Given the description of an element on the screen output the (x, y) to click on. 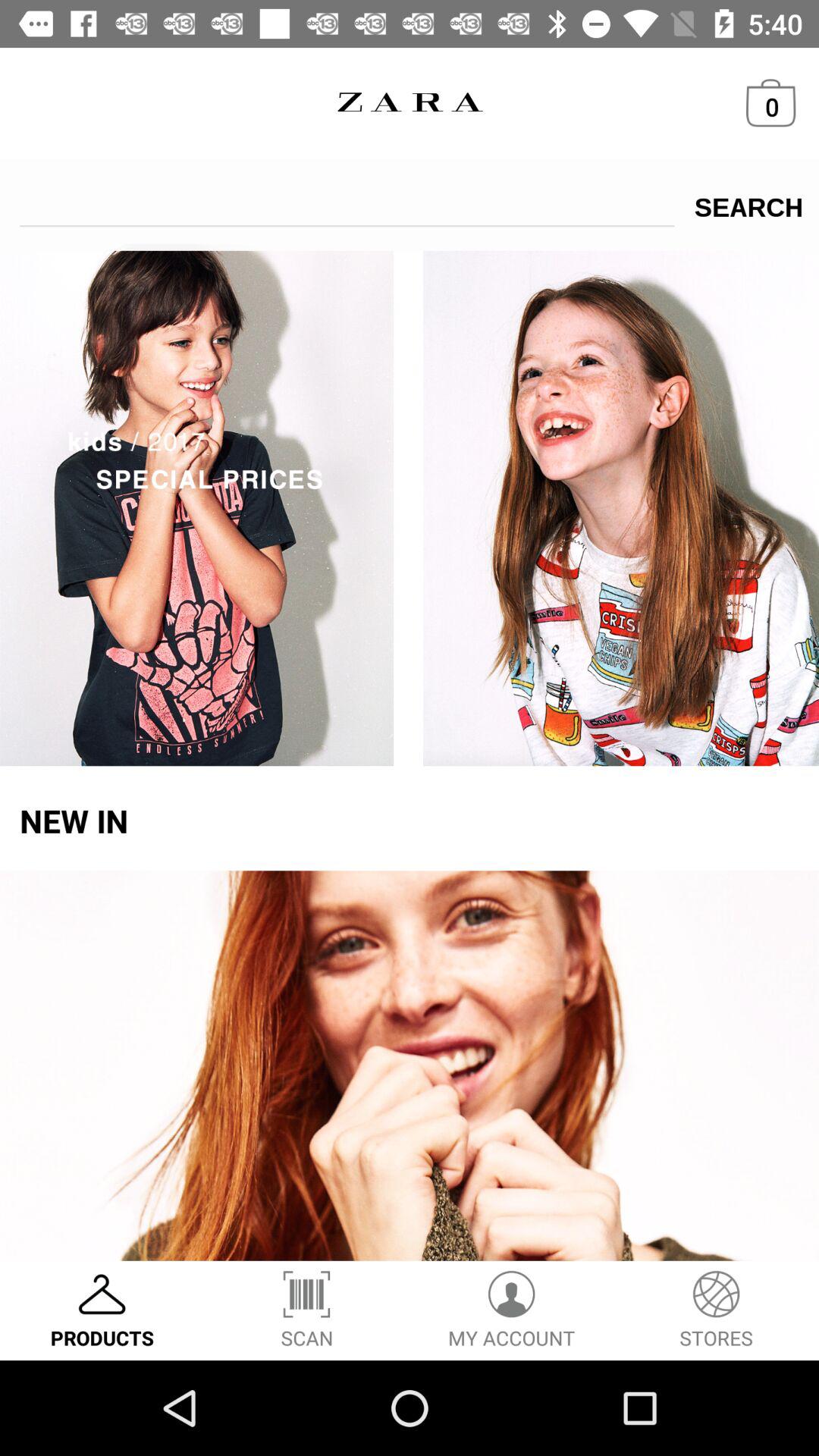
sales for kids items (409, 504)
